Given the description of an element on the screen output the (x, y) to click on. 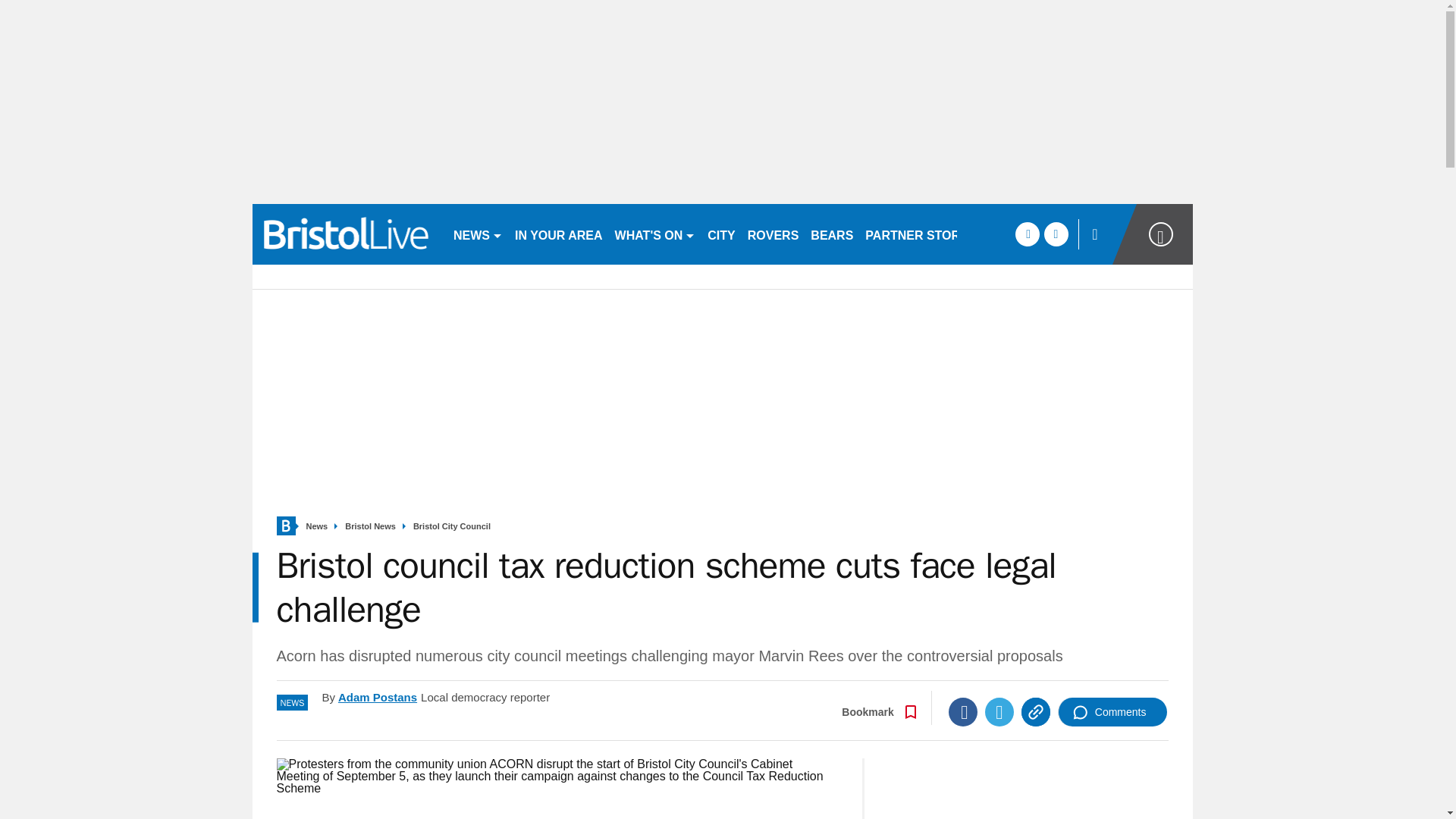
bristolpost (345, 233)
Comments (1112, 711)
ROVERS (773, 233)
facebook (1026, 233)
NEWS (477, 233)
BEARS (832, 233)
IN YOUR AREA (558, 233)
PARTNER STORIES (922, 233)
Twitter (999, 711)
Facebook (962, 711)
